Given the description of an element on the screen output the (x, y) to click on. 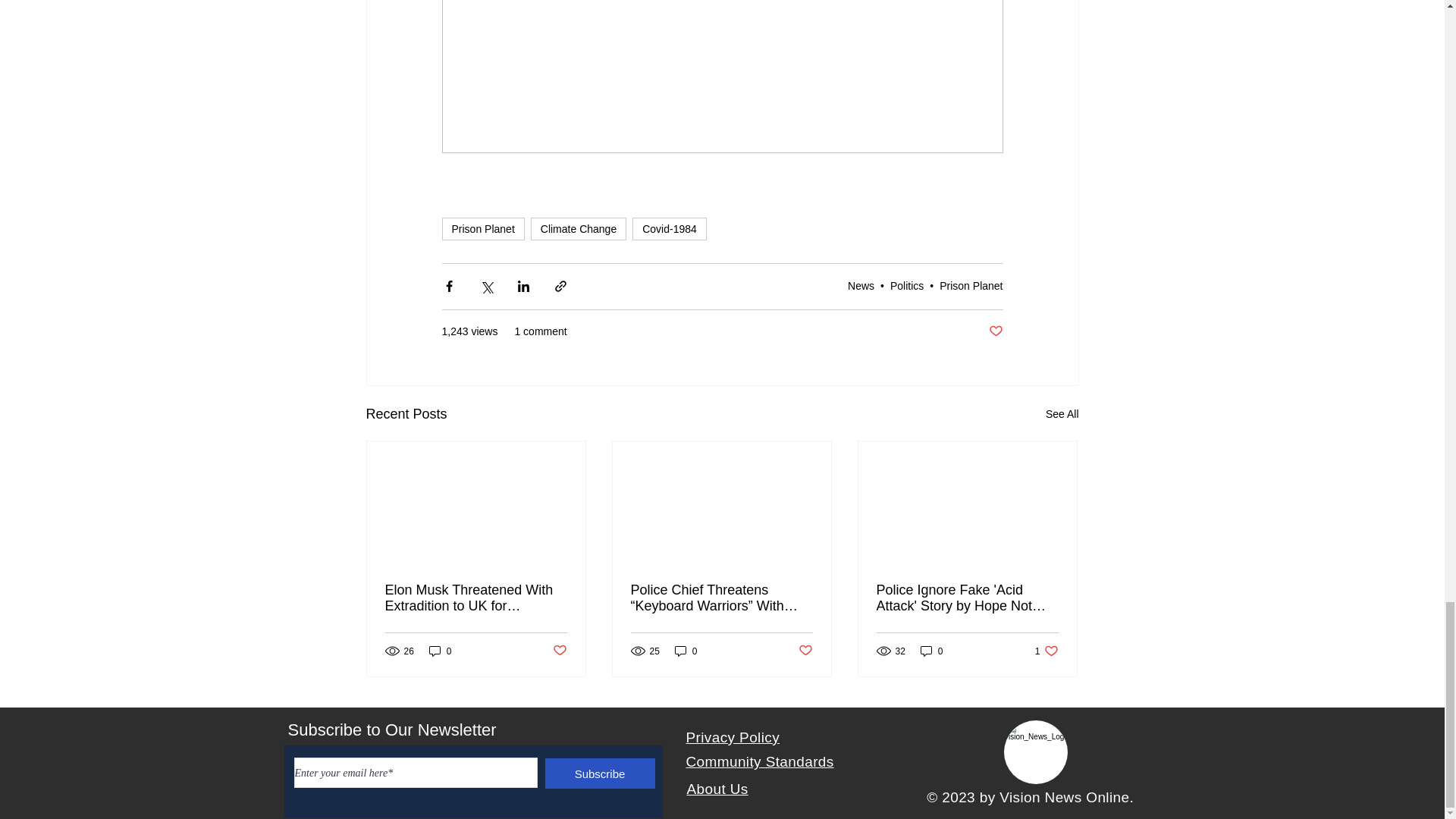
Prison Planet (971, 285)
See All (1061, 414)
Prison Planet (482, 228)
Post not marked as liked (995, 331)
Politics (906, 285)
0 (440, 650)
Covid-1984 (668, 228)
0 (685, 650)
